Given the description of an element on the screen output the (x, y) to click on. 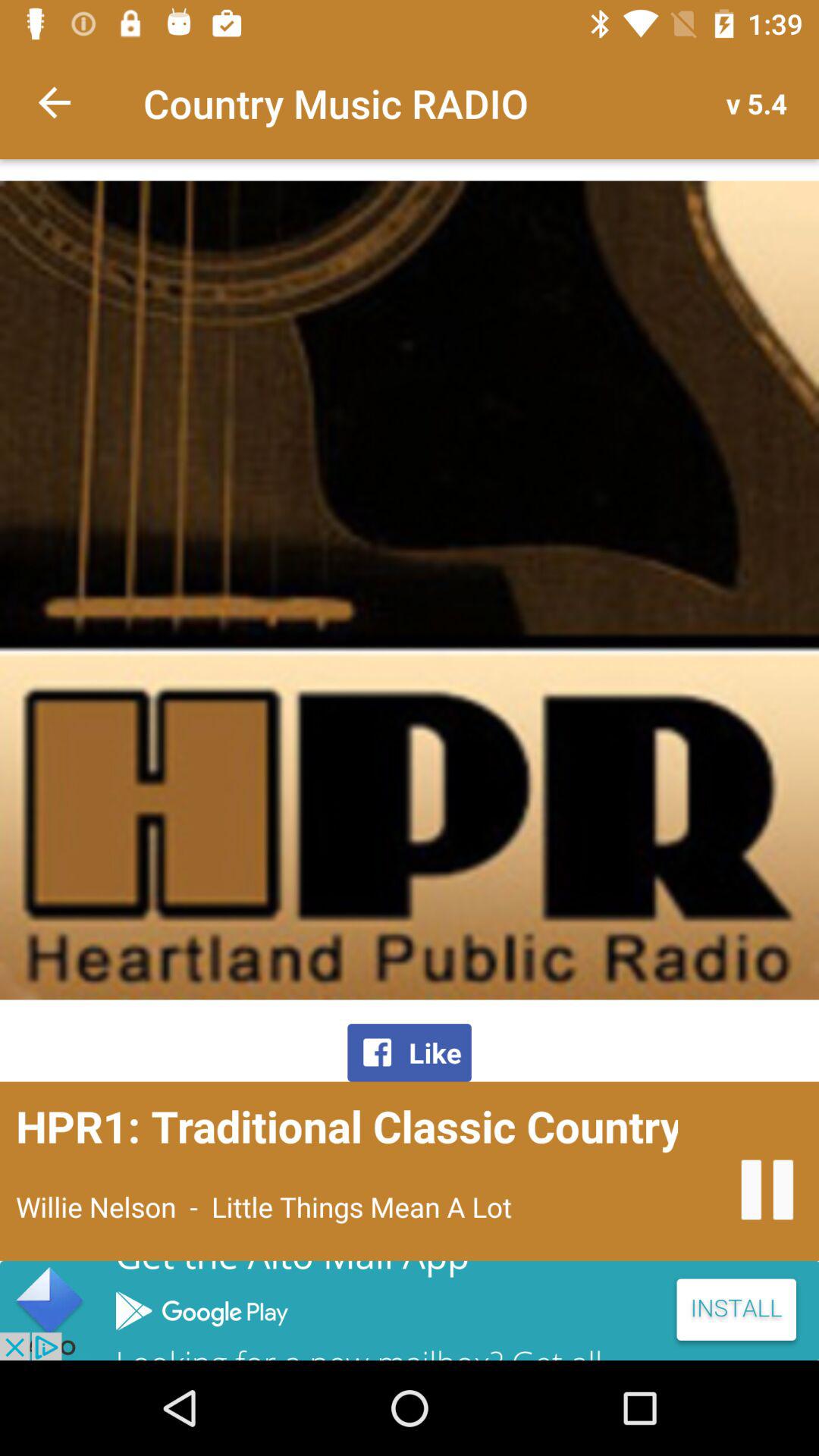
advertise page (409, 1310)
